Given the description of an element on the screen output the (x, y) to click on. 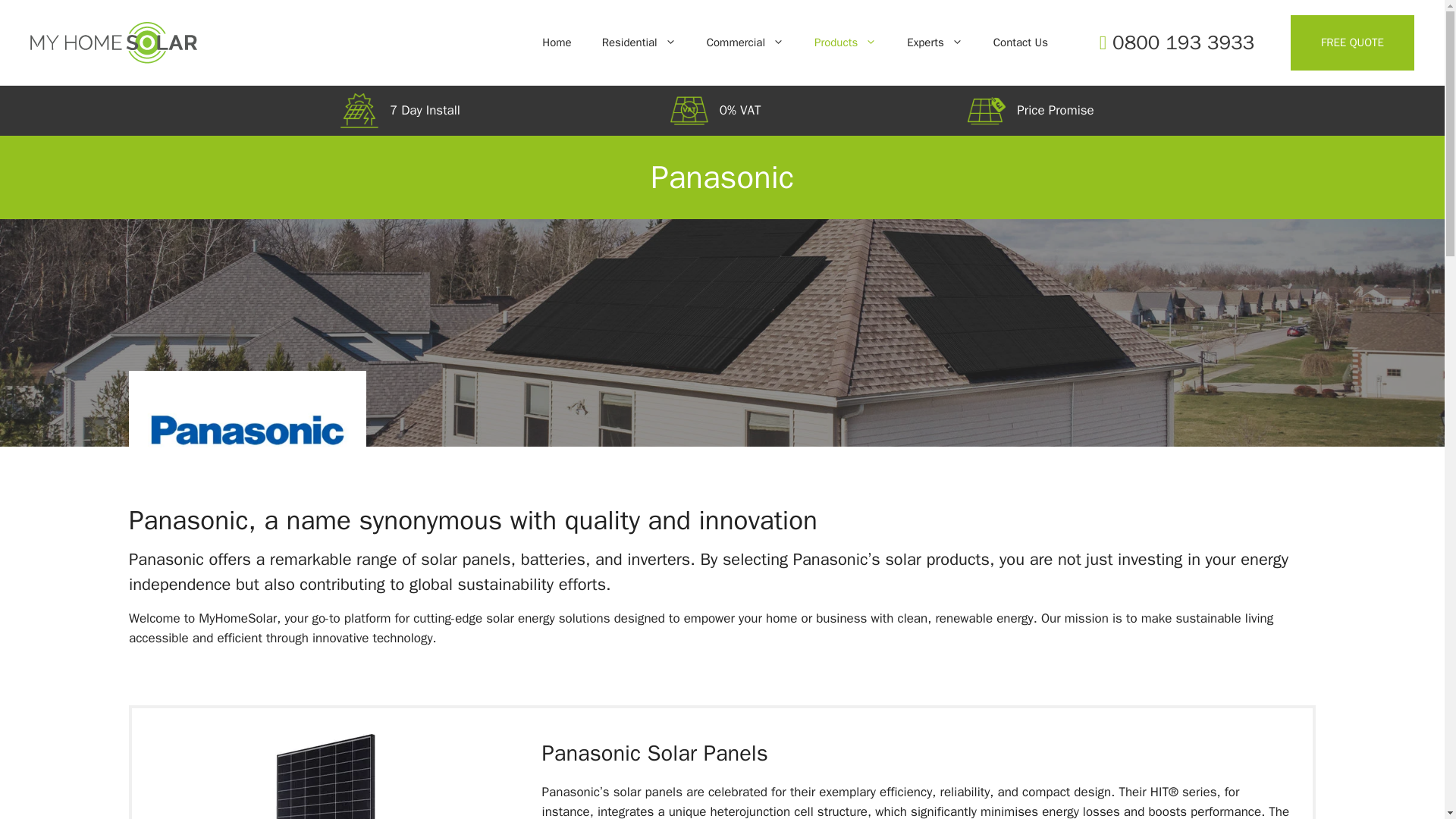
panasonic-logo-4x2 (247, 430)
Home (556, 42)
Experts (934, 42)
Products (845, 42)
Residential (638, 42)
Commercial (745, 42)
